Given the description of an element on the screen output the (x, y) to click on. 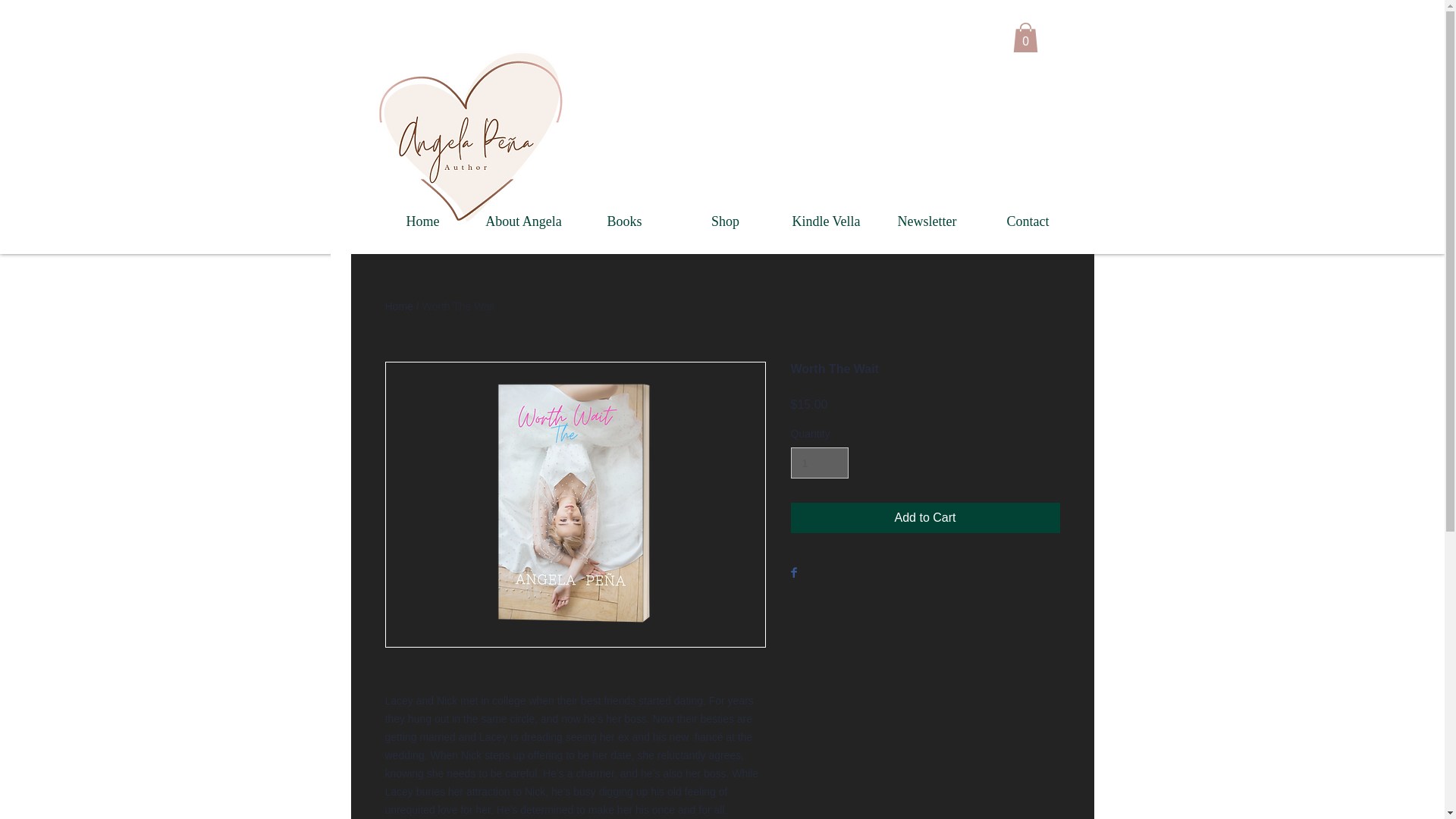
Newsletter (926, 221)
Add to Cart (924, 517)
Worth The Wait (458, 306)
About Angela (523, 221)
Contact (1027, 221)
Books (624, 221)
Shop (725, 221)
Home (399, 306)
Home (422, 221)
Kindle Vella (826, 221)
1 (818, 462)
